Given the description of an element on the screen output the (x, y) to click on. 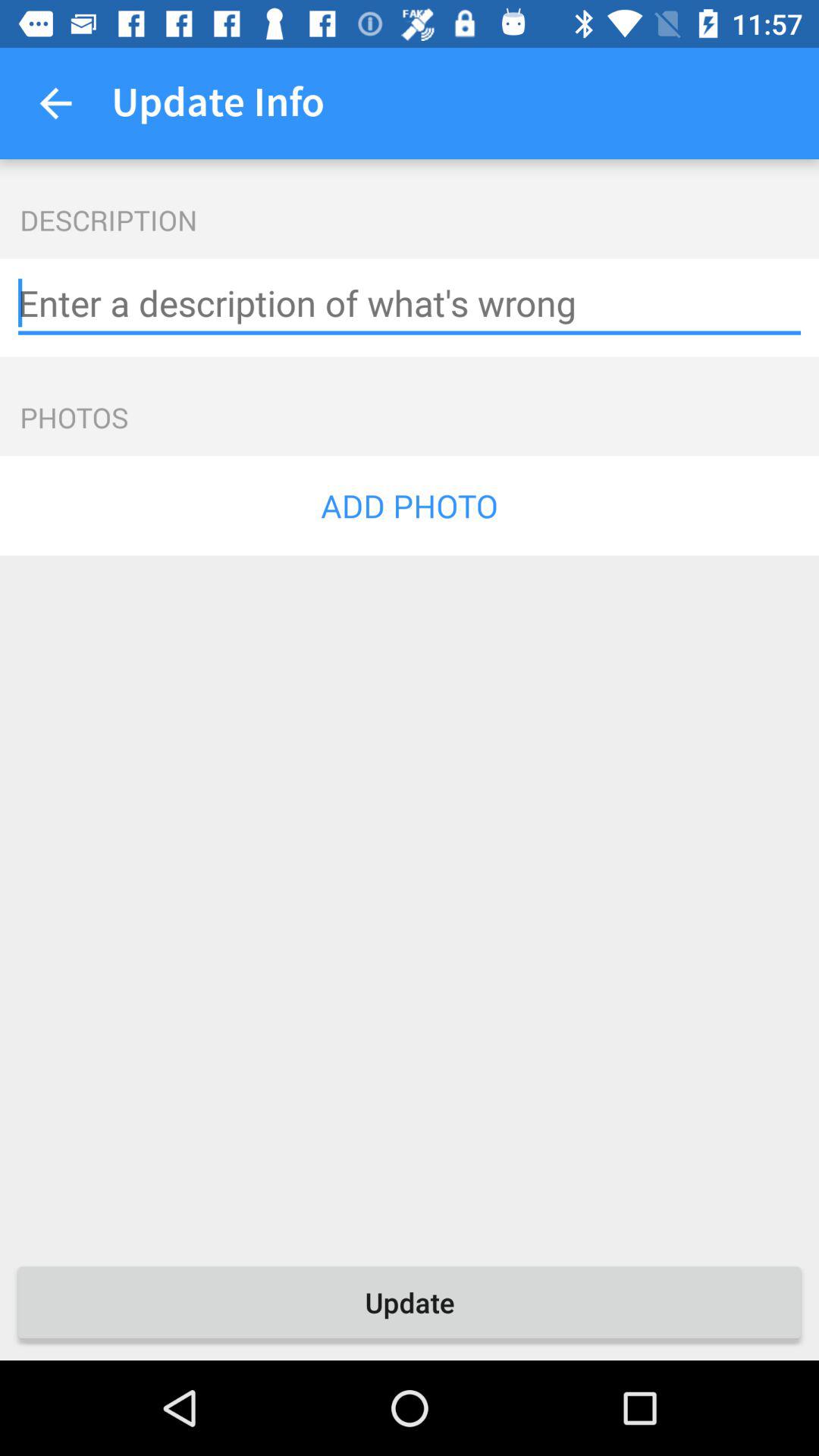
tap the item to the left of update info (55, 103)
